Given the description of an element on the screen output the (x, y) to click on. 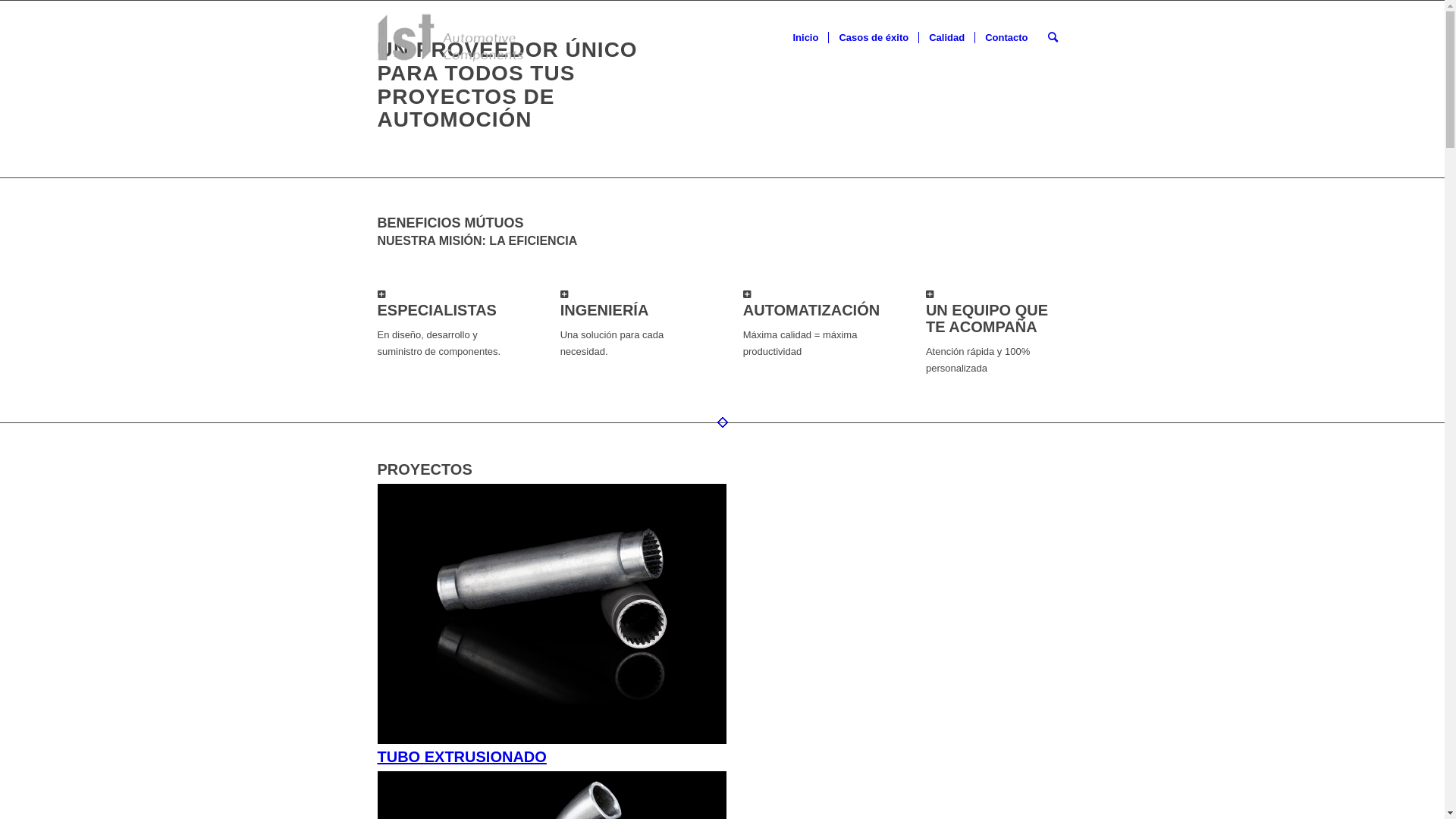
TUBO EXTRUSIONADO Element type: hover (551, 613)
Inicio Element type: text (805, 37)
Contacto Element type: text (1005, 37)
TUBO EXTRUSIONADO Element type: text (722, 624)
Calidad Element type: text (946, 37)
logolst Element type: hover (450, 37)
